Given the description of an element on the screen output the (x, y) to click on. 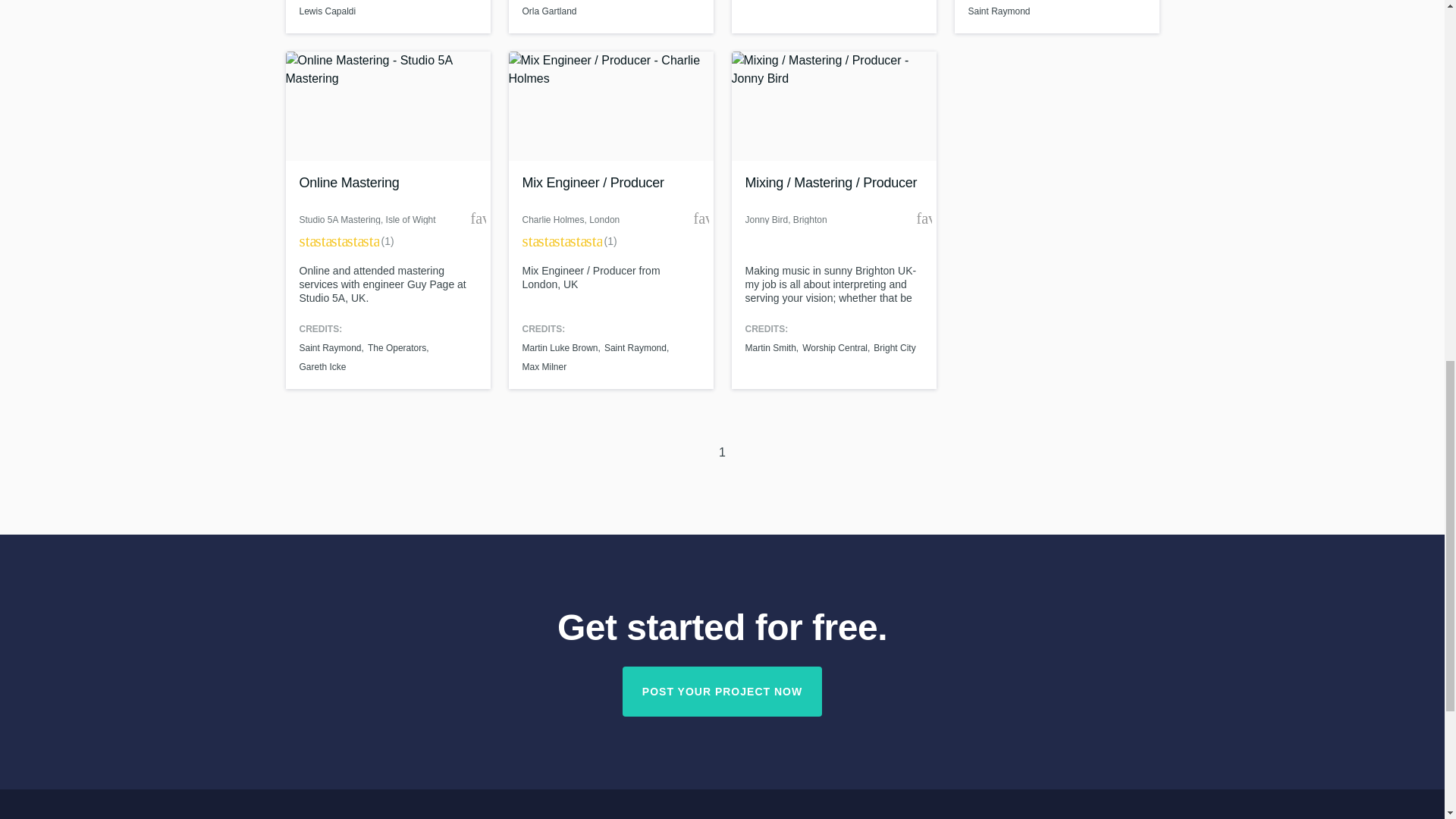
Add to favorites (923, 218)
Add to favorites (477, 218)
Add to favorites (700, 218)
